Given the description of an element on the screen output the (x, y) to click on. 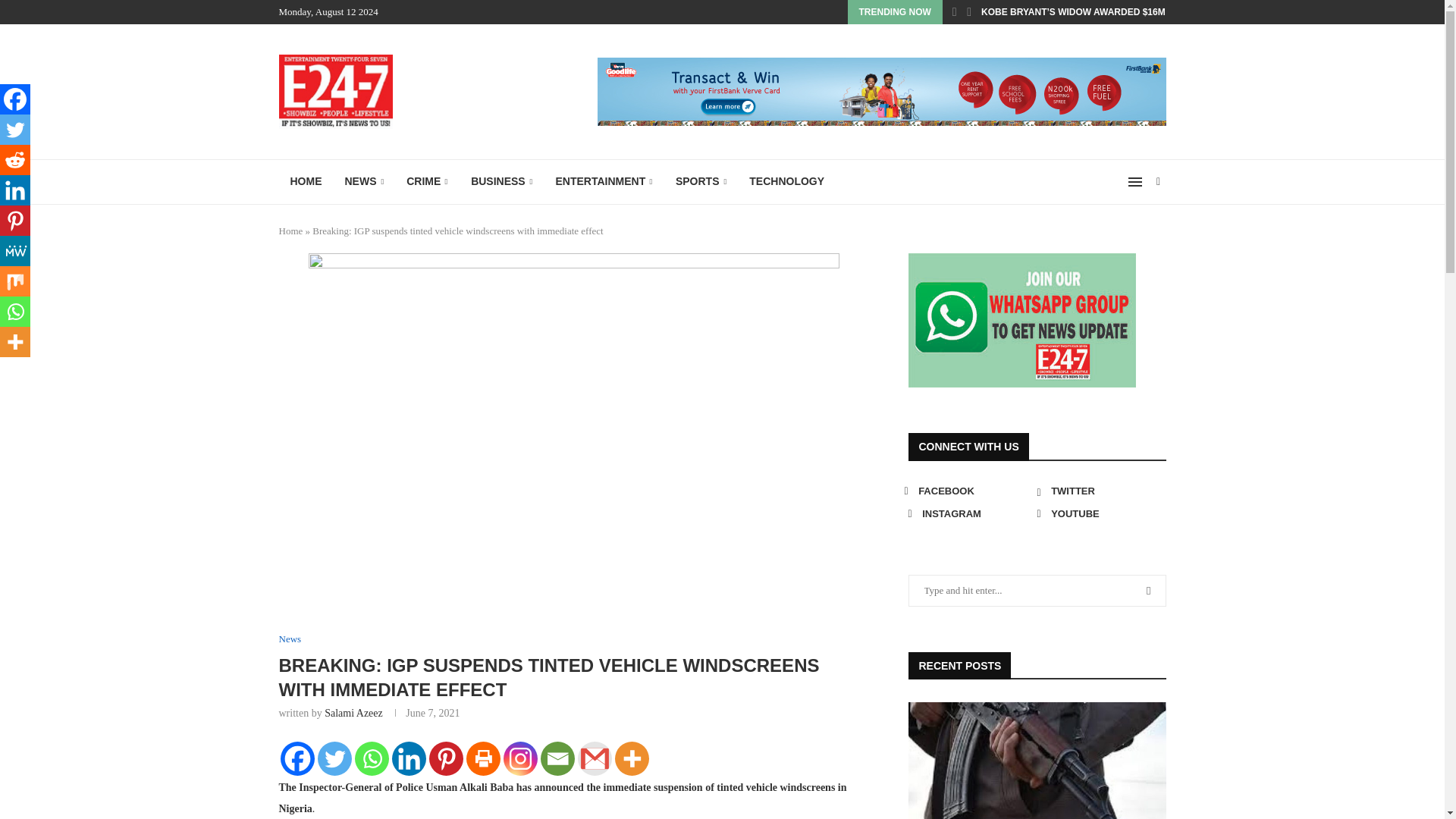
Facebook (297, 758)
TECHNOLOGY (786, 181)
Linkedin (408, 758)
Home (290, 230)
BUSINESS (501, 181)
Twitter (333, 758)
Instagram (520, 758)
Pinterest (446, 758)
Print (482, 758)
